Given the description of an element on the screen output the (x, y) to click on. 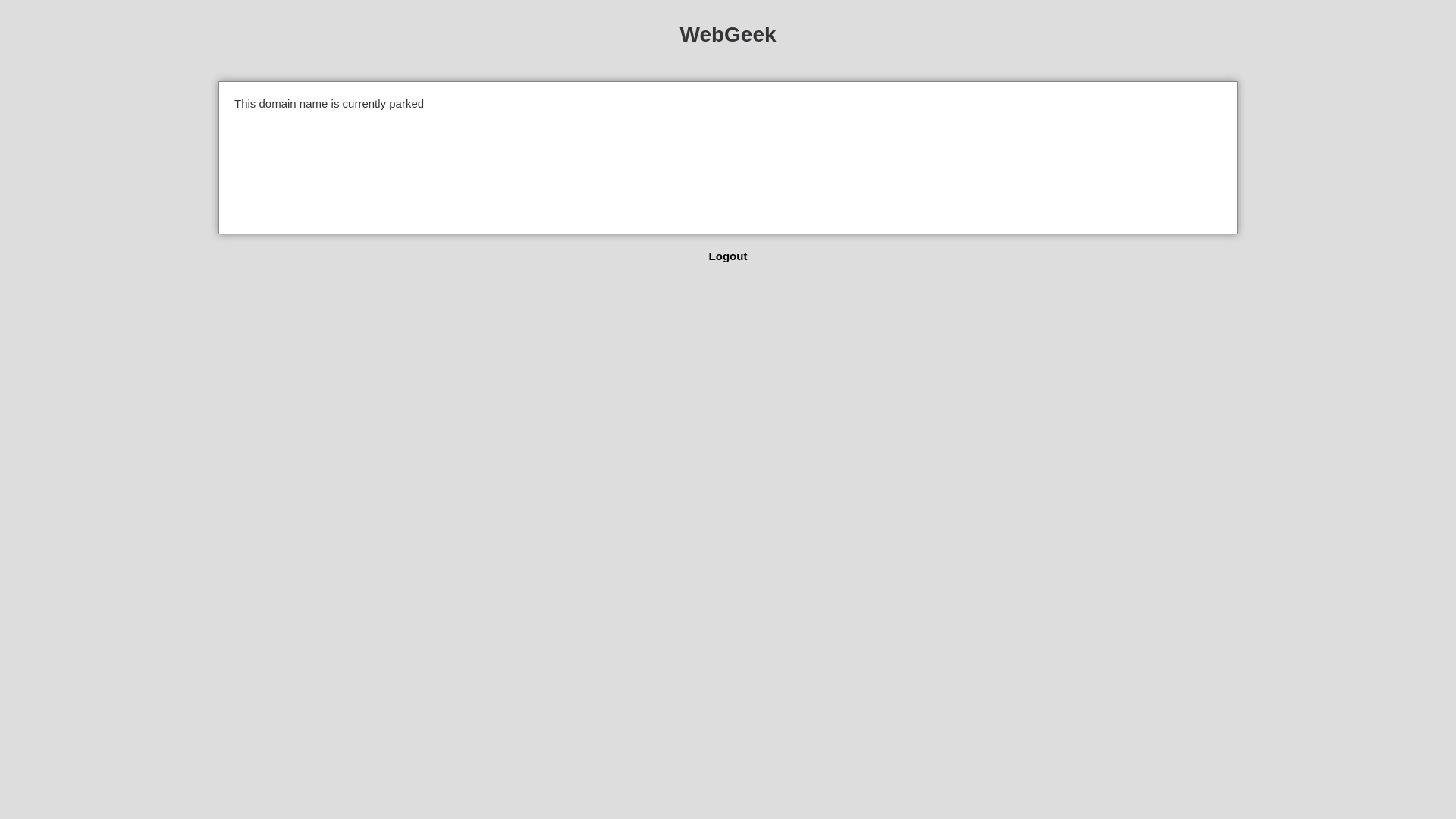
Logout Element type: text (728, 255)
